Given the description of an element on the screen output the (x, y) to click on. 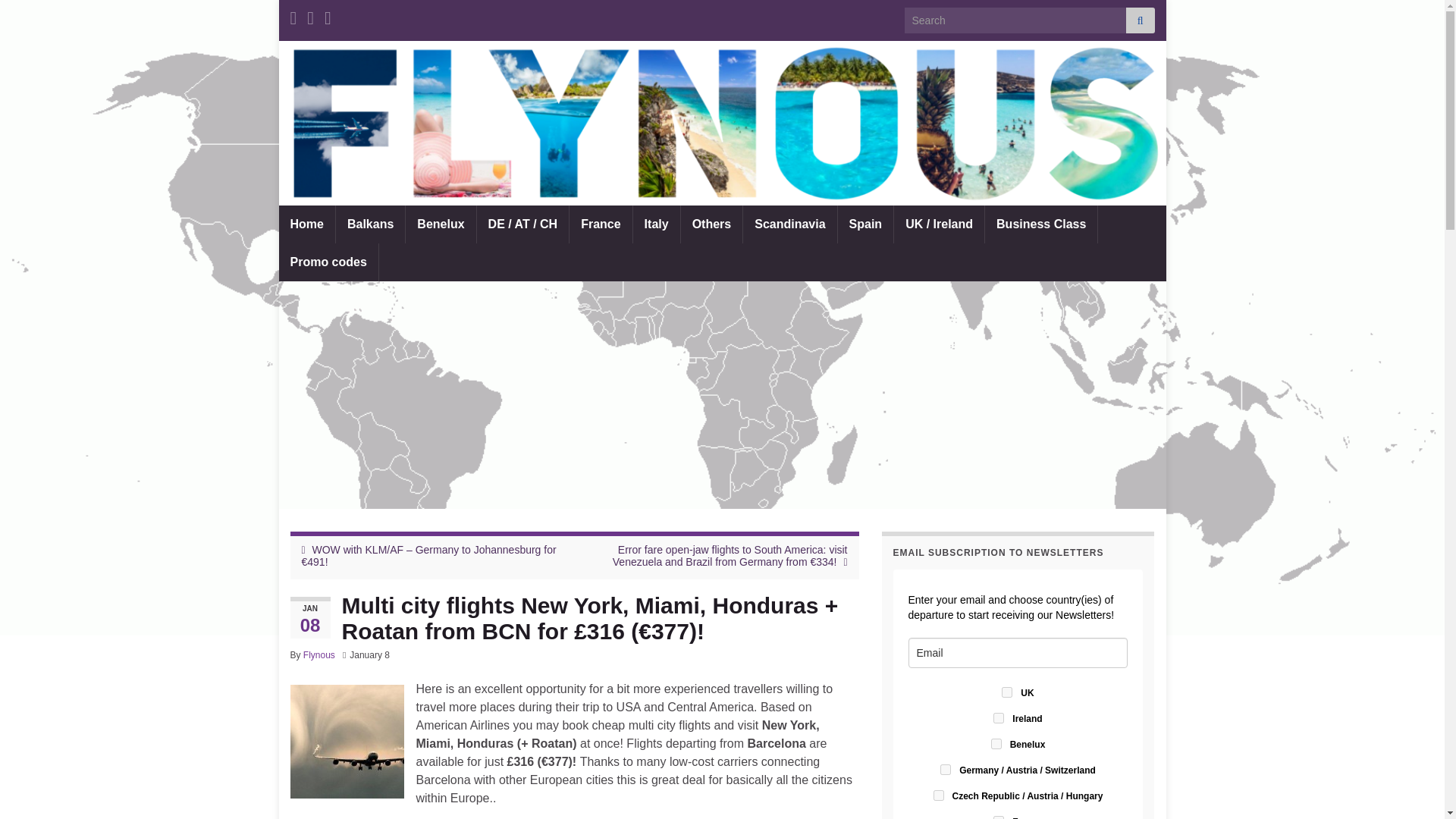
10702674 (938, 795)
10690612 (998, 817)
Flynous (318, 655)
10690606 (1006, 692)
Spain (865, 224)
Italy (656, 224)
Home (306, 224)
Business Class (1041, 224)
Balkans (370, 224)
France (600, 224)
10690608 (996, 743)
Others (711, 224)
10912988 (998, 717)
10690610 (945, 769)
